Given the description of an element on the screen output the (x, y) to click on. 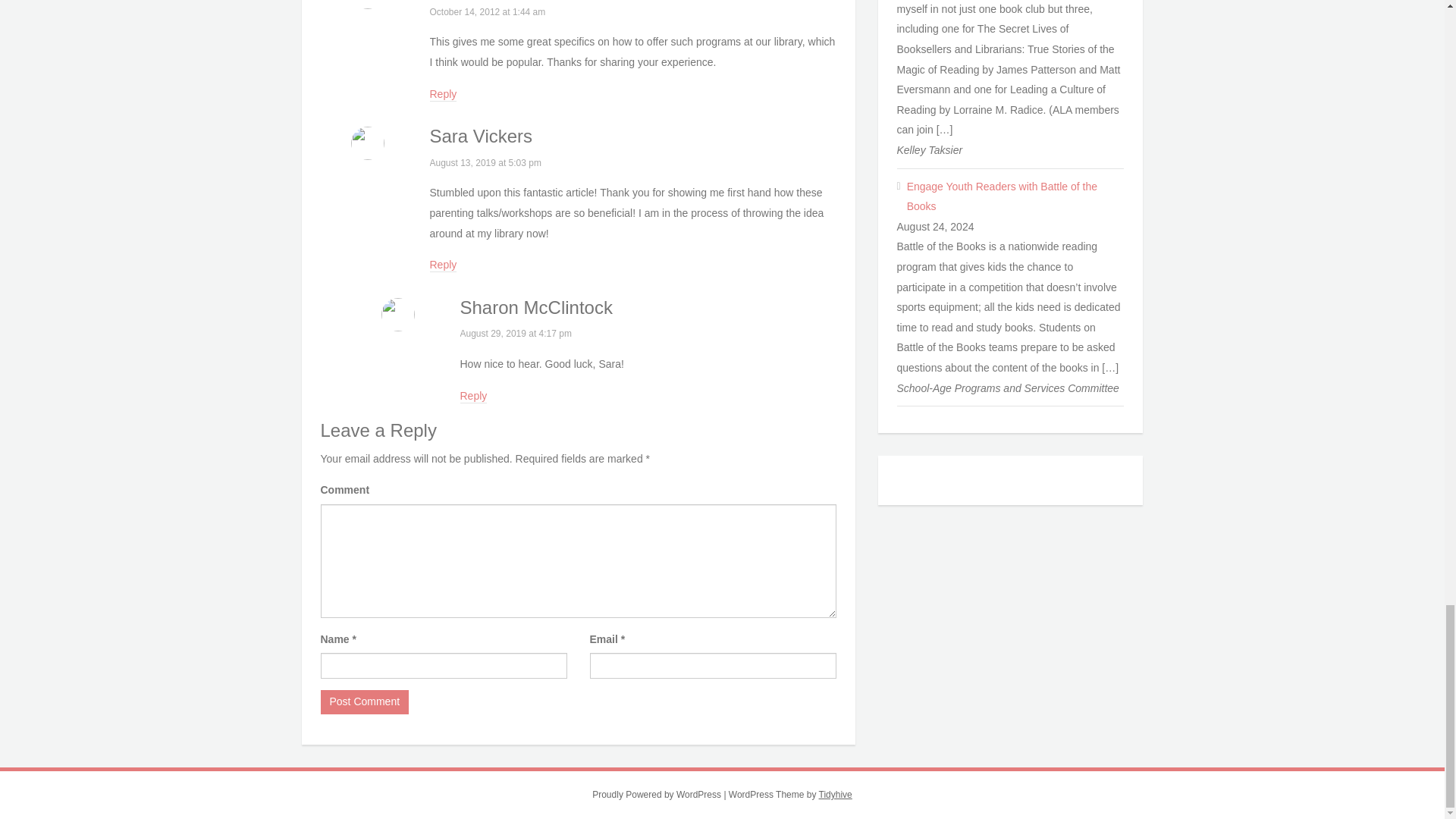
October 14, 2012 at 1:44 am (486, 11)
Reply (443, 94)
Post Comment (364, 702)
